Given the description of an element on the screen output the (x, y) to click on. 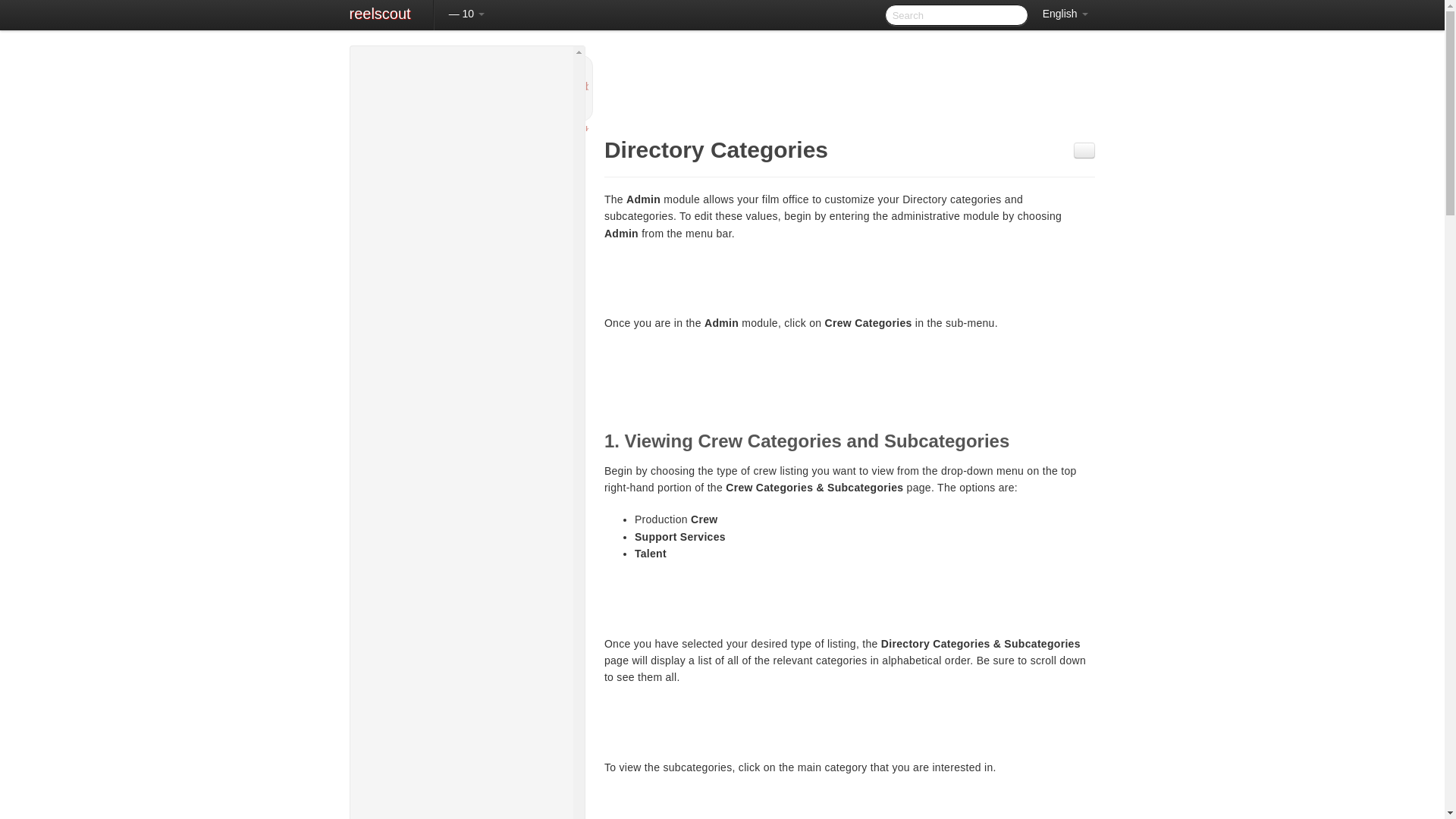
Finding a Specific Location (467, 206)
Locations (460, 169)
Approving Location Files in Batch (467, 551)
How To Approve a Location (467, 533)
Changing Location Name (475, 447)
Sorting Photos (475, 260)
Contacts (460, 587)
Browsing Locations (467, 188)
Adding New Locations (467, 224)
Adding Location Photos (467, 242)
